Given the description of an element on the screen output the (x, y) to click on. 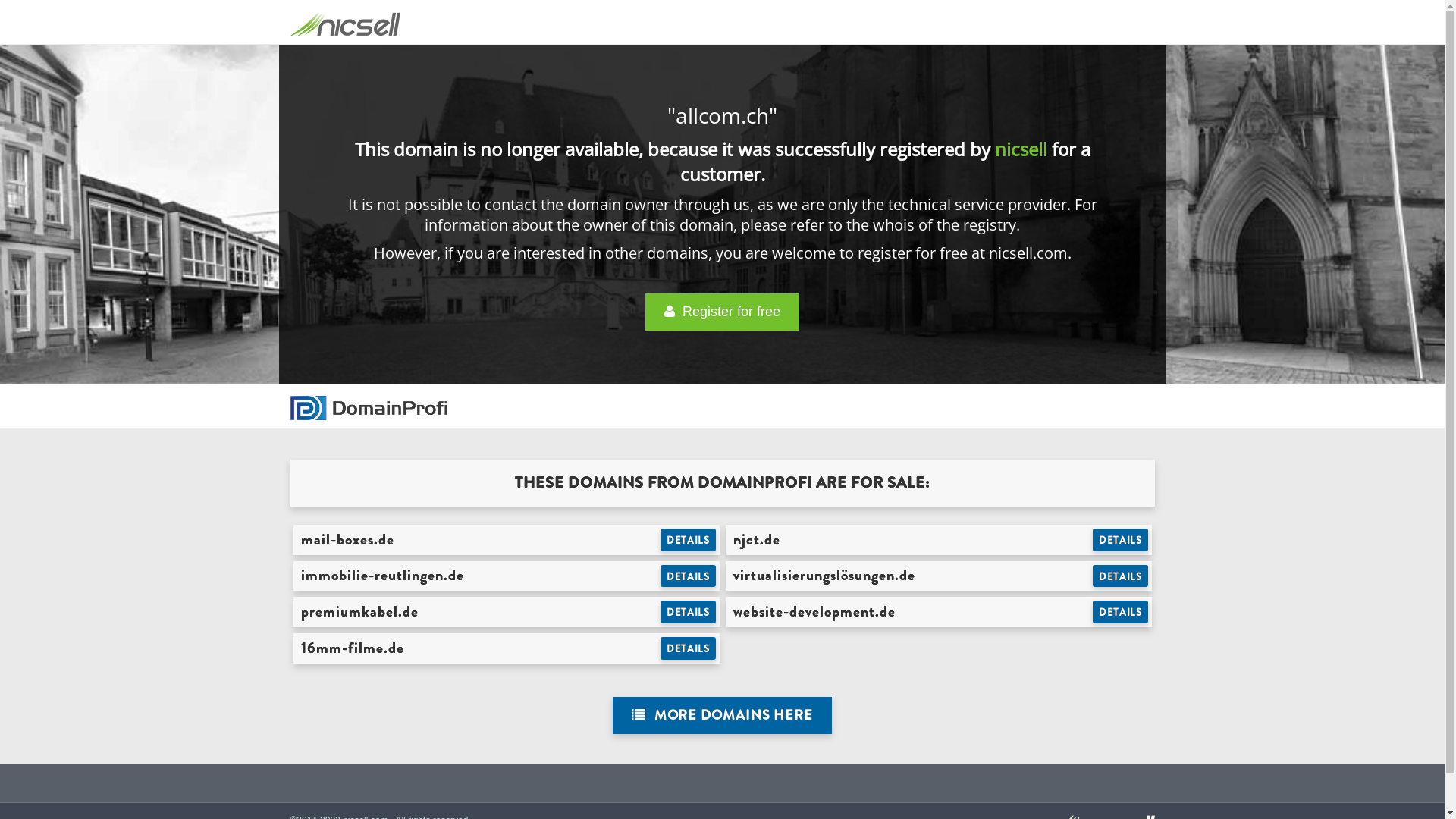
  MORE DOMAINS HERE Element type: text (721, 715)
DETAILS Element type: text (687, 611)
DETAILS Element type: text (1120, 539)
DETAILS Element type: text (687, 648)
  Register for free Element type: text (722, 311)
DETAILS Element type: text (687, 575)
nicsell Element type: text (1020, 148)
DETAILS Element type: text (1120, 611)
DETAILS Element type: text (687, 539)
DETAILS Element type: text (1120, 575)
